Given the description of an element on the screen output the (x, y) to click on. 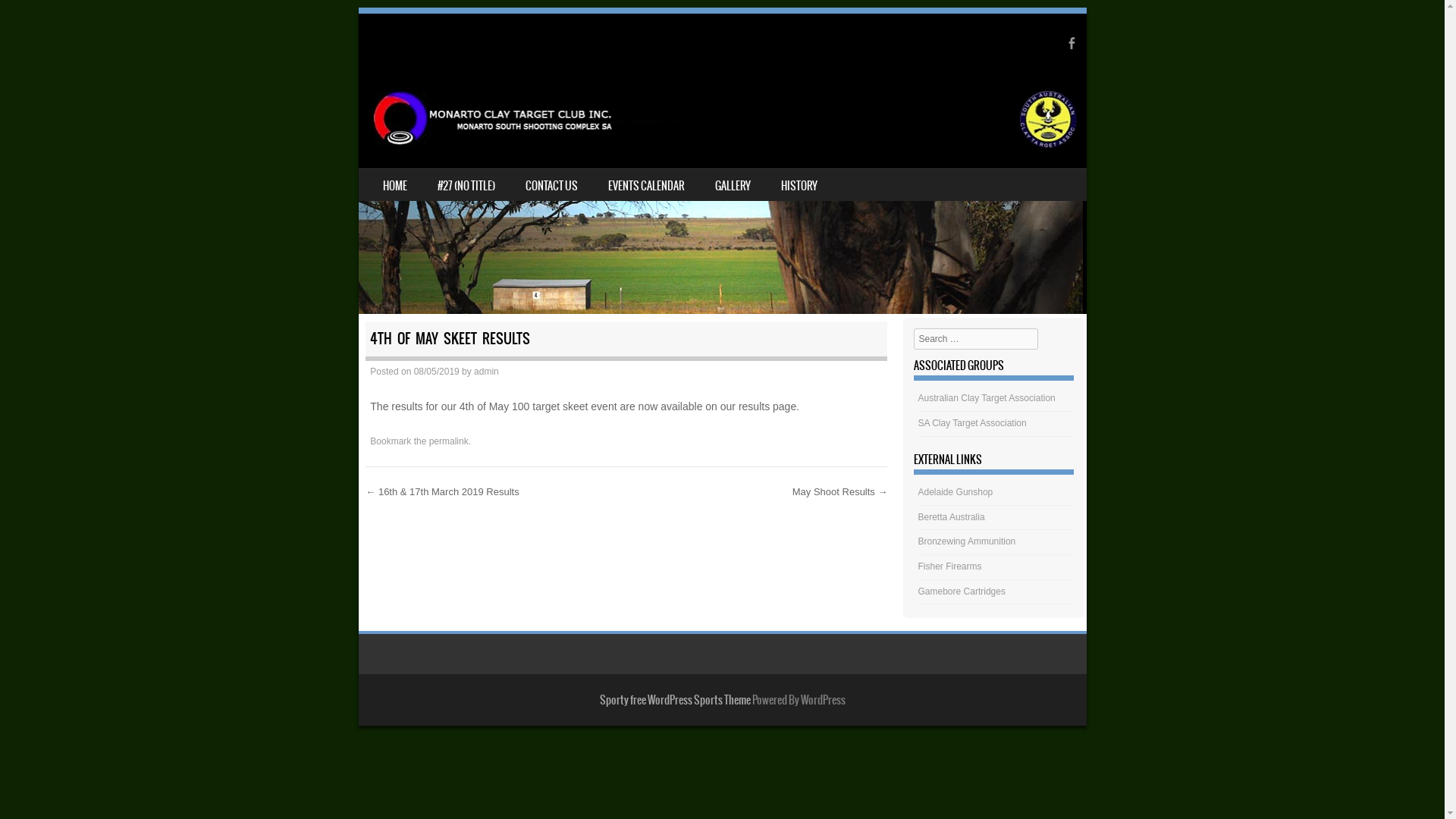
Beretta Australia Element type: text (951, 516)
EVENTS CALENDAR Element type: text (646, 184)
Sporty free WordPress Sports Theme Element type: text (674, 699)
admin Element type: text (485, 371)
CONTACT US Element type: text (550, 184)
permalink Element type: text (448, 441)
Search Element type: text (33, 17)
Australian Clay Target Association Element type: text (986, 397)
HISTORY Element type: text (798, 184)
Monarto Clay Target Club Element type: hover (721, 163)
Adelaide Gunshop Element type: text (955, 491)
08/05/2019 Element type: text (436, 371)
GALLERY Element type: text (732, 184)
Bronzewing Ammunition Element type: text (967, 541)
Gamebore Cartridges Element type: text (961, 591)
HOME Element type: text (394, 184)
SKIP TO CONTENT Element type: text (393, 178)
Fisher Firearms Element type: text (950, 566)
SA Clay Target Association Element type: text (972, 422)
#27 (NO TITLE) Element type: text (465, 184)
Monarto Clay Target Club Element type: hover (721, 119)
